Given the description of an element on the screen output the (x, y) to click on. 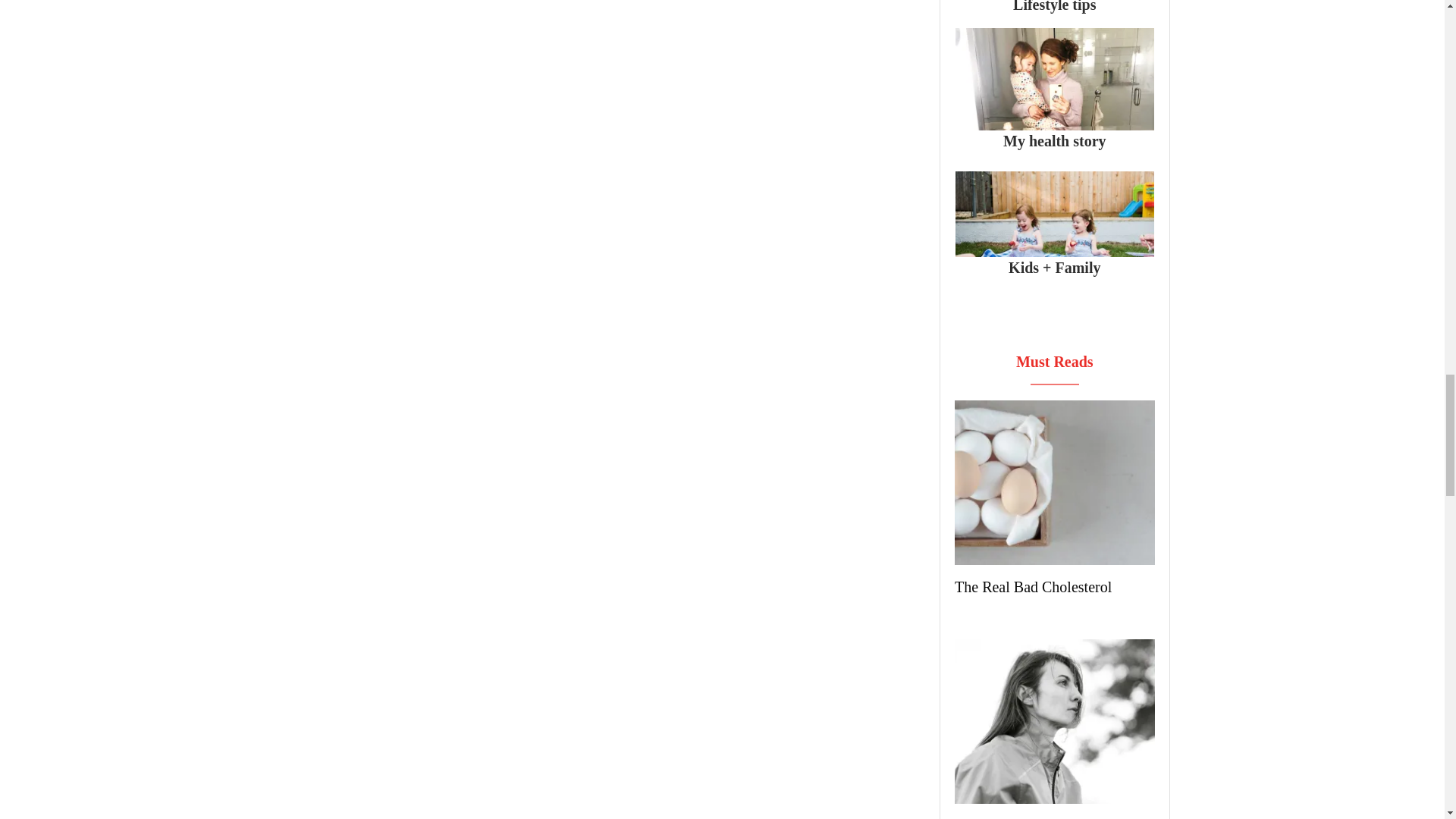
lifestyle tips (1054, 14)
The Real Bad Cholesterol (1033, 586)
kids and family (1054, 221)
my health story (1054, 94)
